Given the description of an element on the screen output the (x, y) to click on. 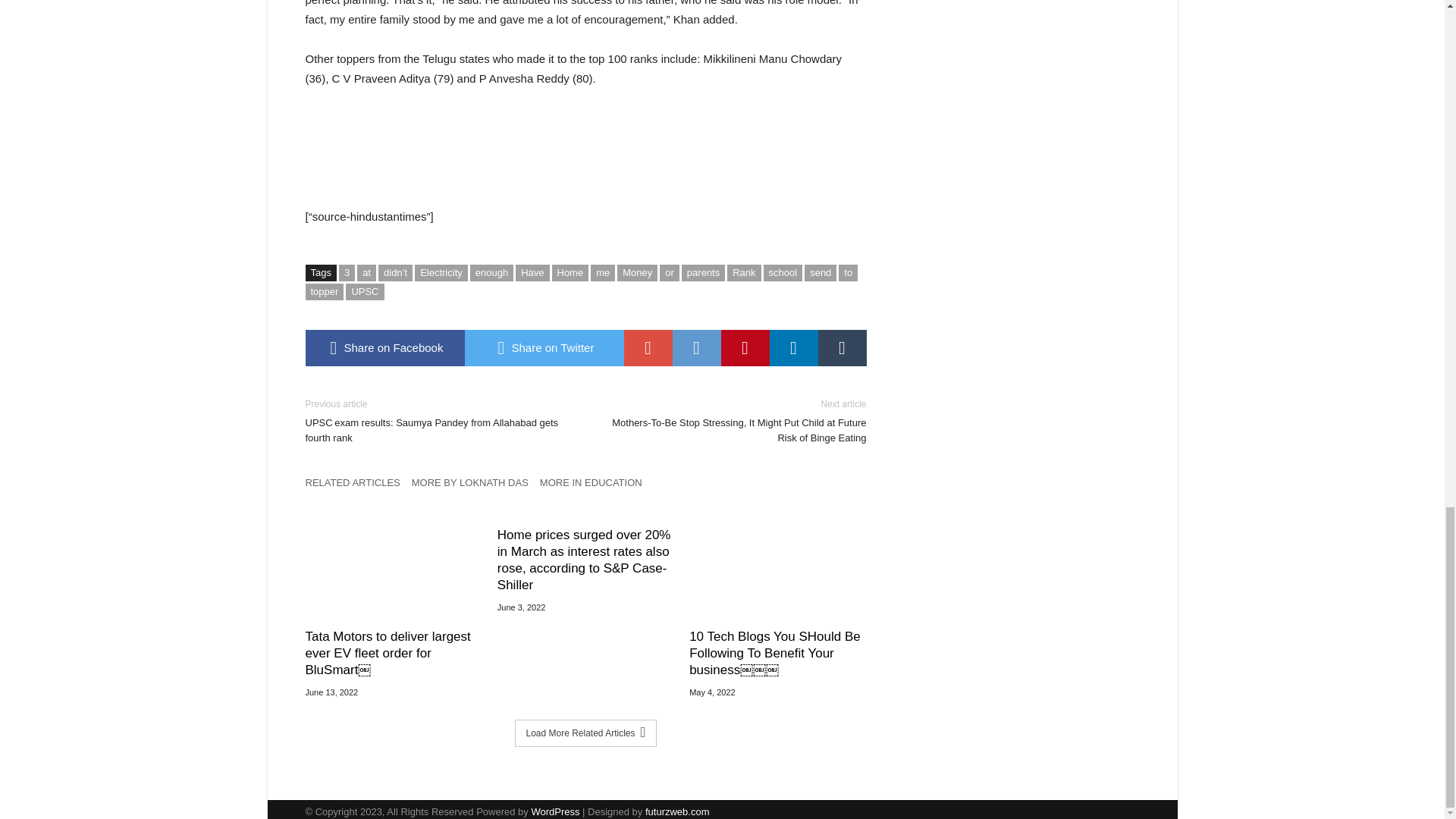
Home (570, 272)
3 (347, 272)
Electricity (440, 272)
linkedin (792, 348)
facebook (384, 348)
enough (491, 272)
send (820, 272)
google (647, 348)
UPSC (365, 291)
or (669, 272)
twitter (543, 348)
reddit (695, 348)
Share on Facebook (384, 348)
pinterest (744, 348)
at (365, 272)
